Given the description of an element on the screen output the (x, y) to click on. 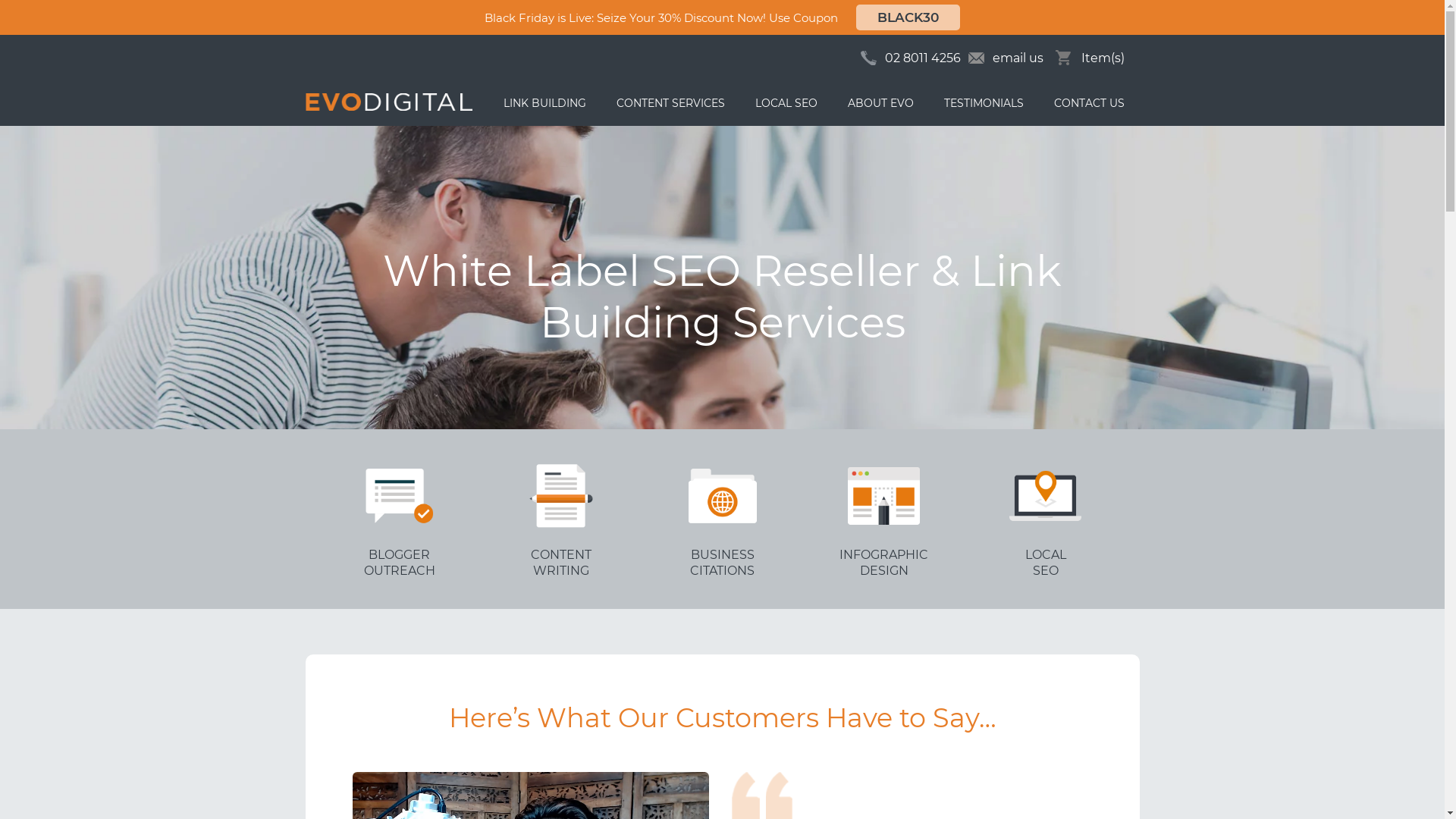
LINK BUILDING Element type: text (544, 102)
BLOGGER
OUTREACH Element type: text (399, 518)
INFOGRAPHIC
DESIGN Element type: text (883, 518)
Evo Digital Element type: hover (387, 101)
TESTIMONIALS Element type: text (982, 102)
email us Element type: text (1004, 57)
ABOUT EVO Element type: text (880, 102)
CONTENT
WRITING Element type: text (560, 518)
CONTENT SERVICES Element type: text (669, 102)
CONTACT US Element type: text (1089, 102)
LOCAL
SEO Element type: text (1045, 518)
BLACK30 Element type: text (908, 17)
02 8011 4256 Element type: text (922, 57)
BUSINESS
CITATIONS Element type: text (722, 518)
LOCAL SEO Element type: text (786, 102)
Item(s) Element type: text (1085, 57)
